Given the description of an element on the screen output the (x, y) to click on. 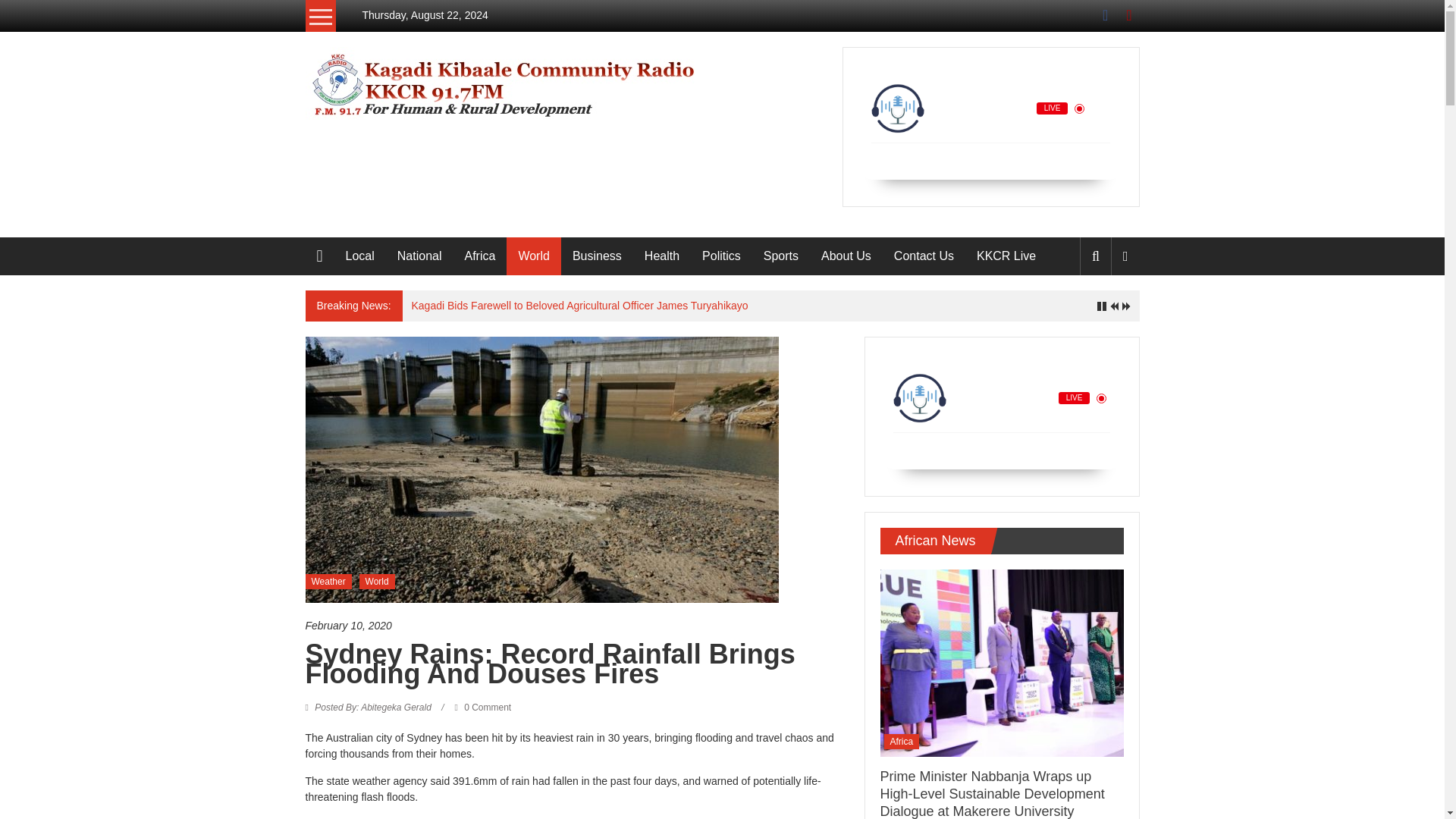
KKCR Live (1005, 256)
Abitegeka Gerald (373, 706)
Play (971, 159)
About Us (845, 256)
Politics (721, 256)
Contact Us (923, 256)
7:30 am (575, 625)
Business (596, 256)
